Given the description of an element on the screen output the (x, y) to click on. 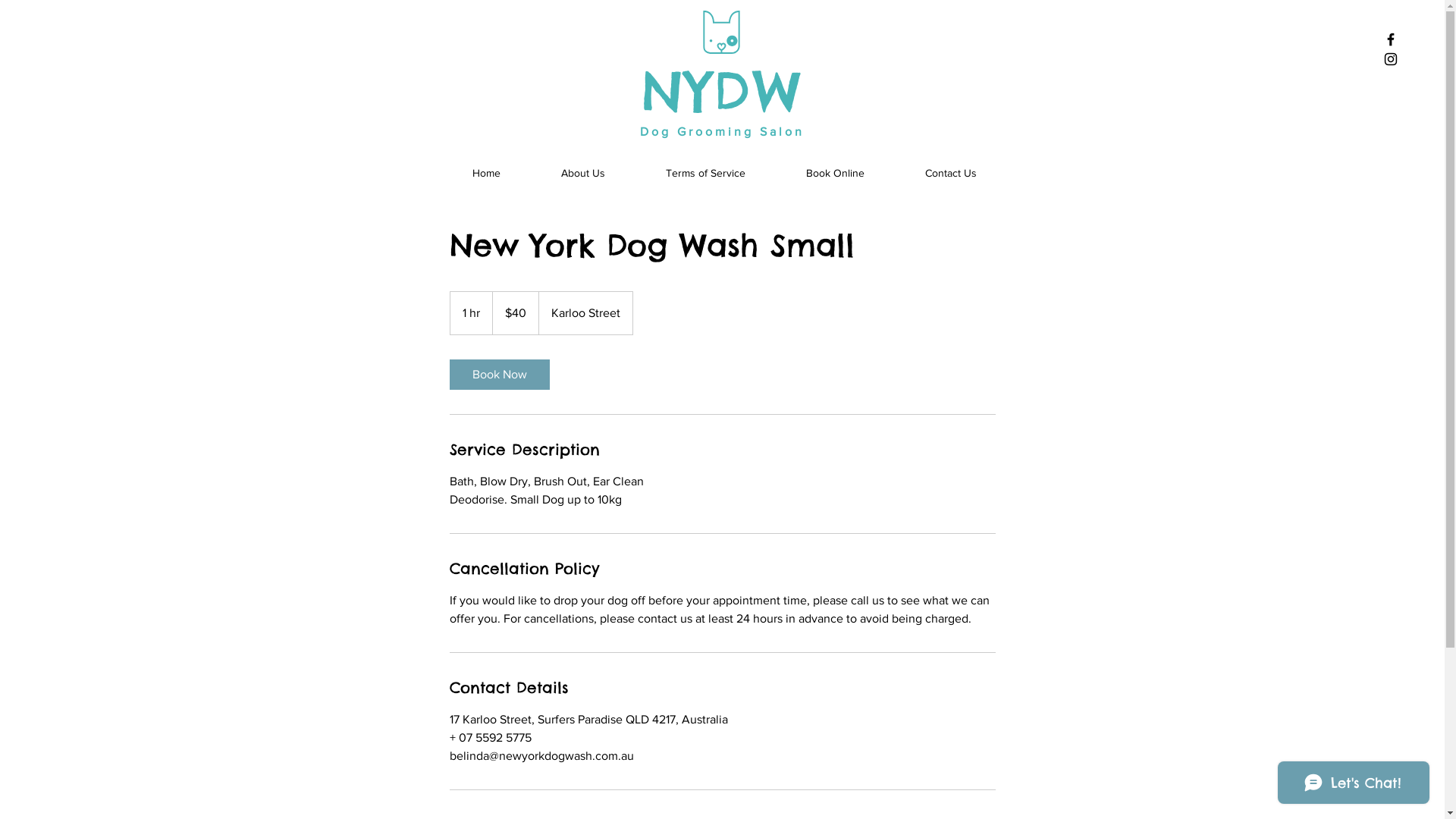
About Us Element type: text (582, 173)
Book Now Element type: text (498, 374)
Book Online Element type: text (834, 173)
Dog Grooming Salon Element type: text (722, 131)
Terms of Service Element type: text (705, 173)
Home Element type: text (485, 173)
NYDW Element type: text (722, 91)
Contact Us Element type: text (950, 173)
